Given the description of an element on the screen output the (x, y) to click on. 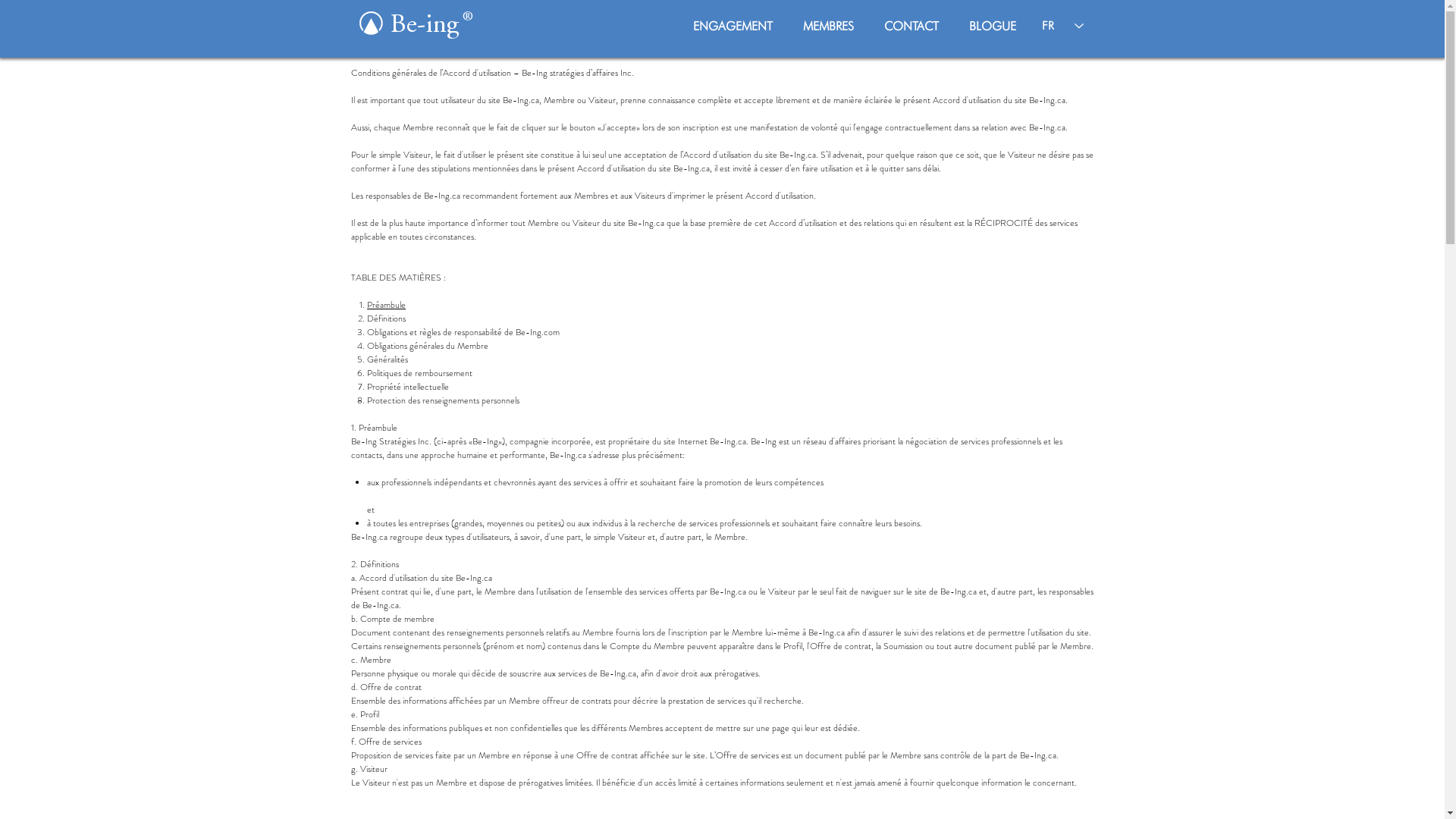
MEMBRES Element type: text (827, 25)
ENGAGEMENT Element type: text (732, 25)
BLOGUE Element type: text (992, 25)
CONTACT Element type: text (911, 25)
Be-ing  Element type: text (427, 25)
